Given the description of an element on the screen output the (x, y) to click on. 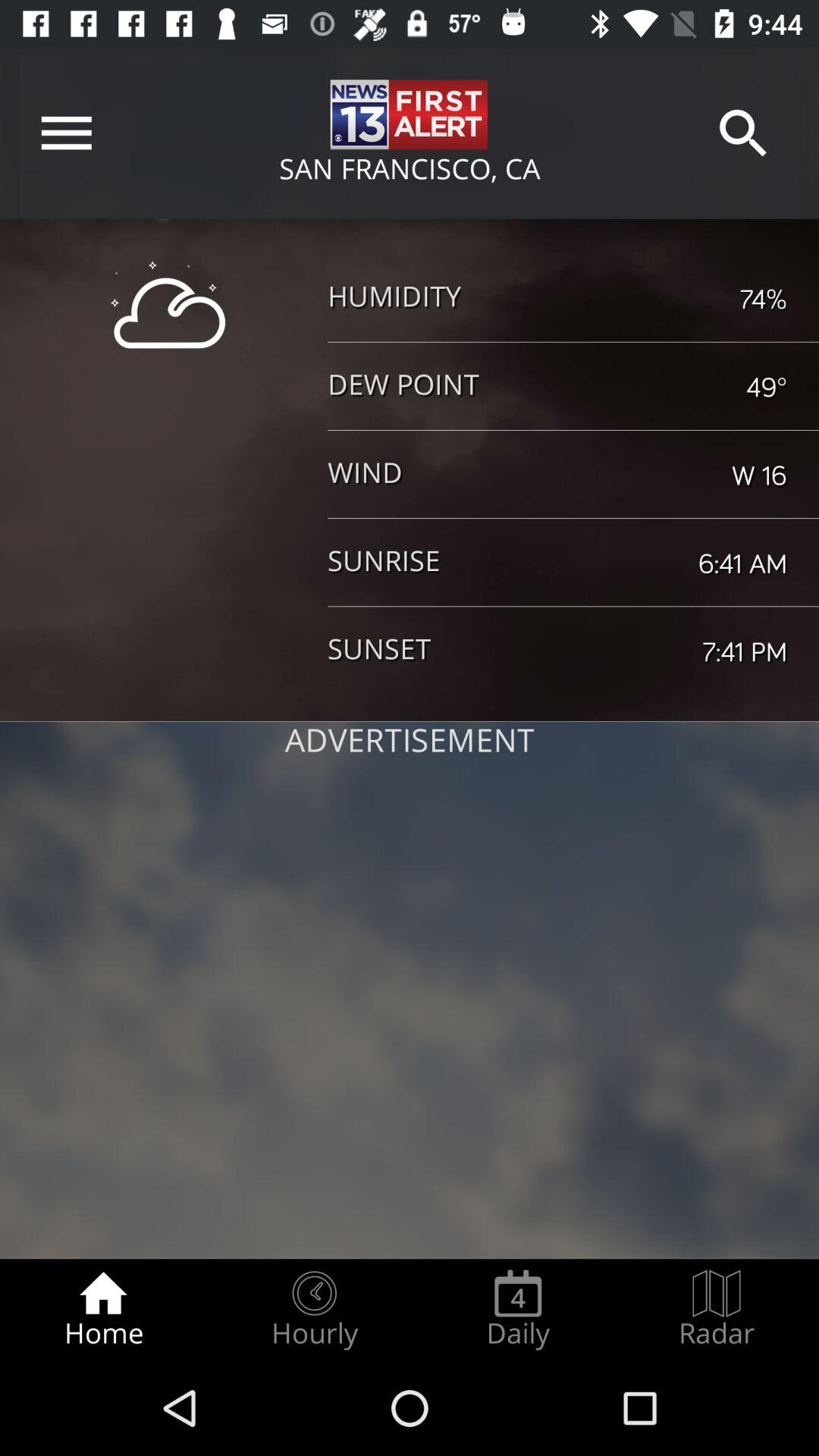
click the icon next to the hourly radio button (518, 1309)
